Given the description of an element on the screen output the (x, y) to click on. 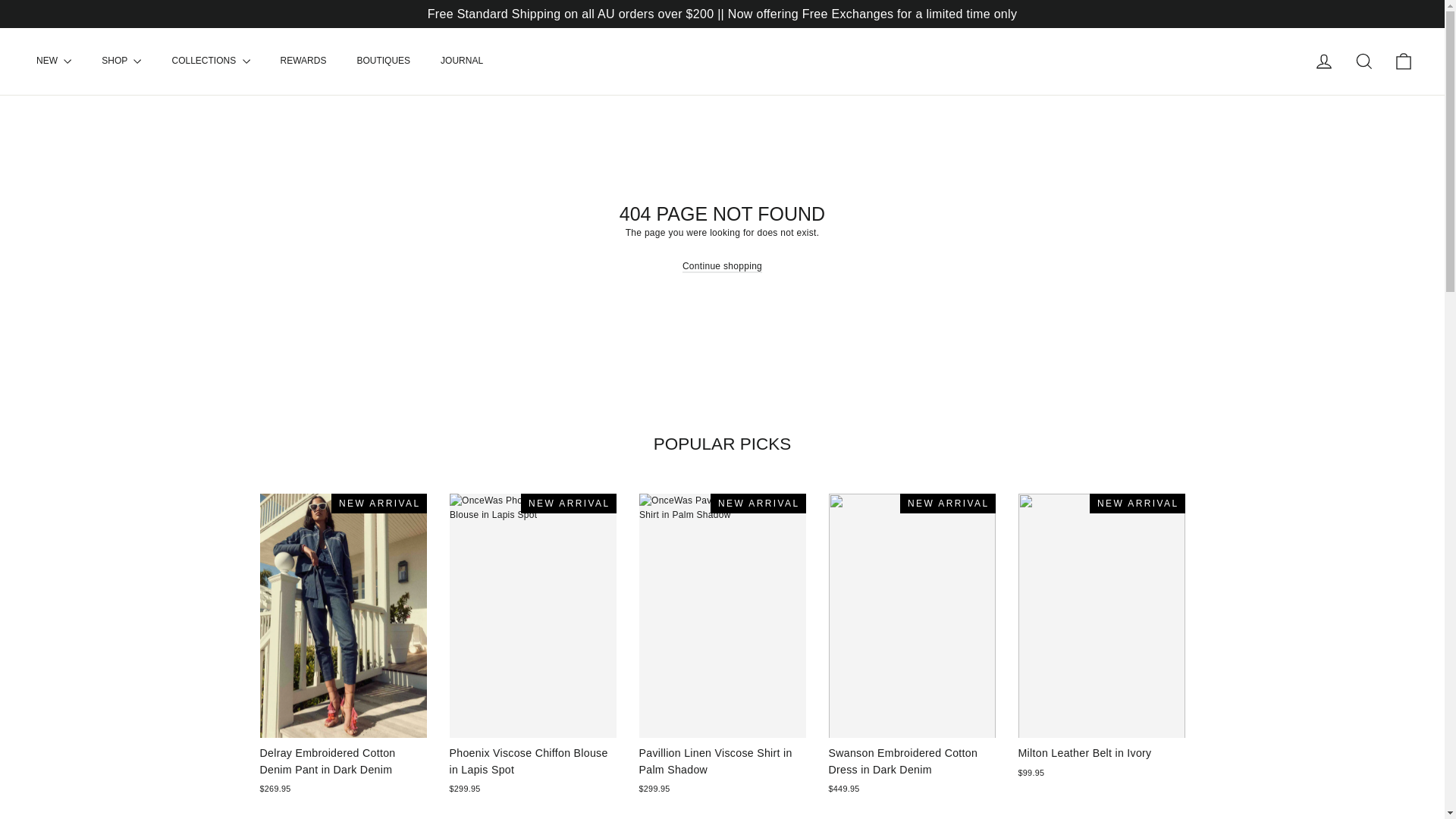
ICON-BAG-MINIMAL (1403, 61)
ACCOUNT (1324, 61)
ICON-SEARCH (1364, 61)
